Given the description of an element on the screen output the (x, y) to click on. 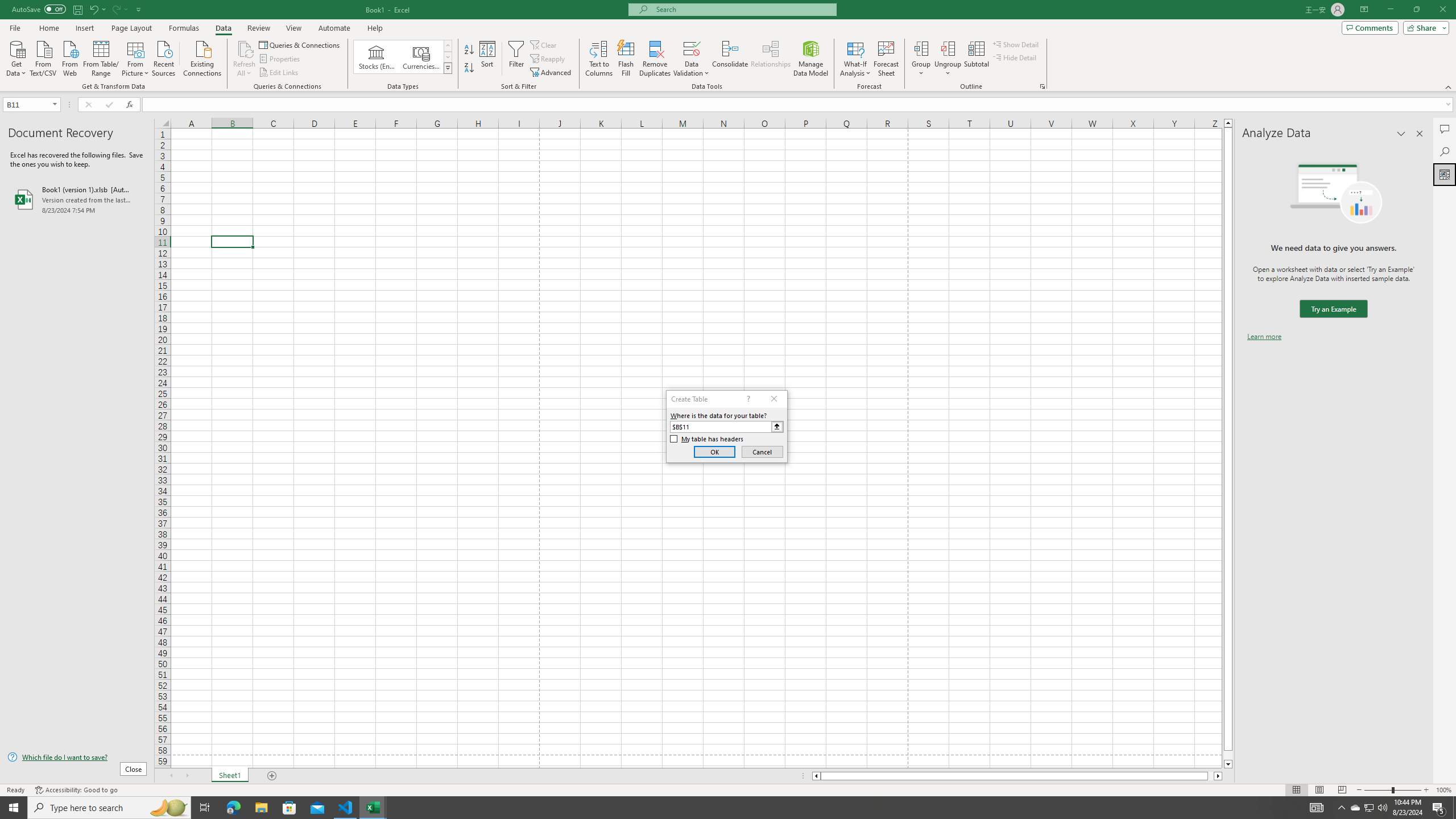
From Web (69, 57)
Subtotal (976, 58)
Microsoft search (742, 9)
Refresh All (244, 58)
Forecast Sheet (885, 58)
Task Pane Options (1400, 133)
Relationships (770, 58)
Remove Duplicates (654, 58)
Data Validation... (691, 58)
Column right (1218, 775)
Minimize (1390, 9)
Advanced... (551, 72)
Normal (1296, 790)
Automate (334, 28)
